Given the description of an element on the screen output the (x, y) to click on. 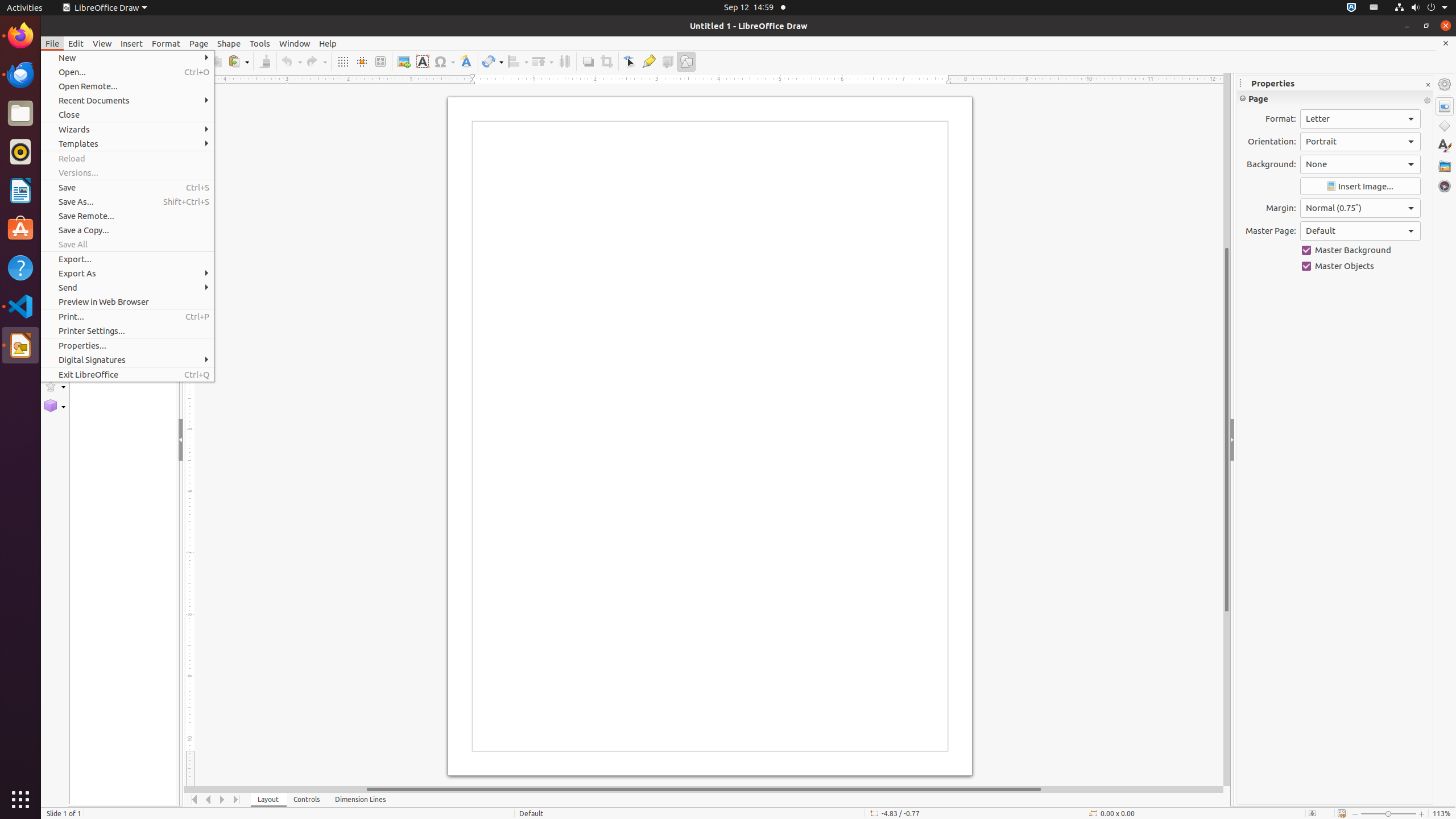
Recent Documents Element type: menu (127, 100)
Zoom & Pan Element type: push-button (379, 61)
Edit Element type: menu (75, 43)
More Options Element type: push-button (1426, 100)
Arrange Element type: push-button (542, 61)
